Given the description of an element on the screen output the (x, y) to click on. 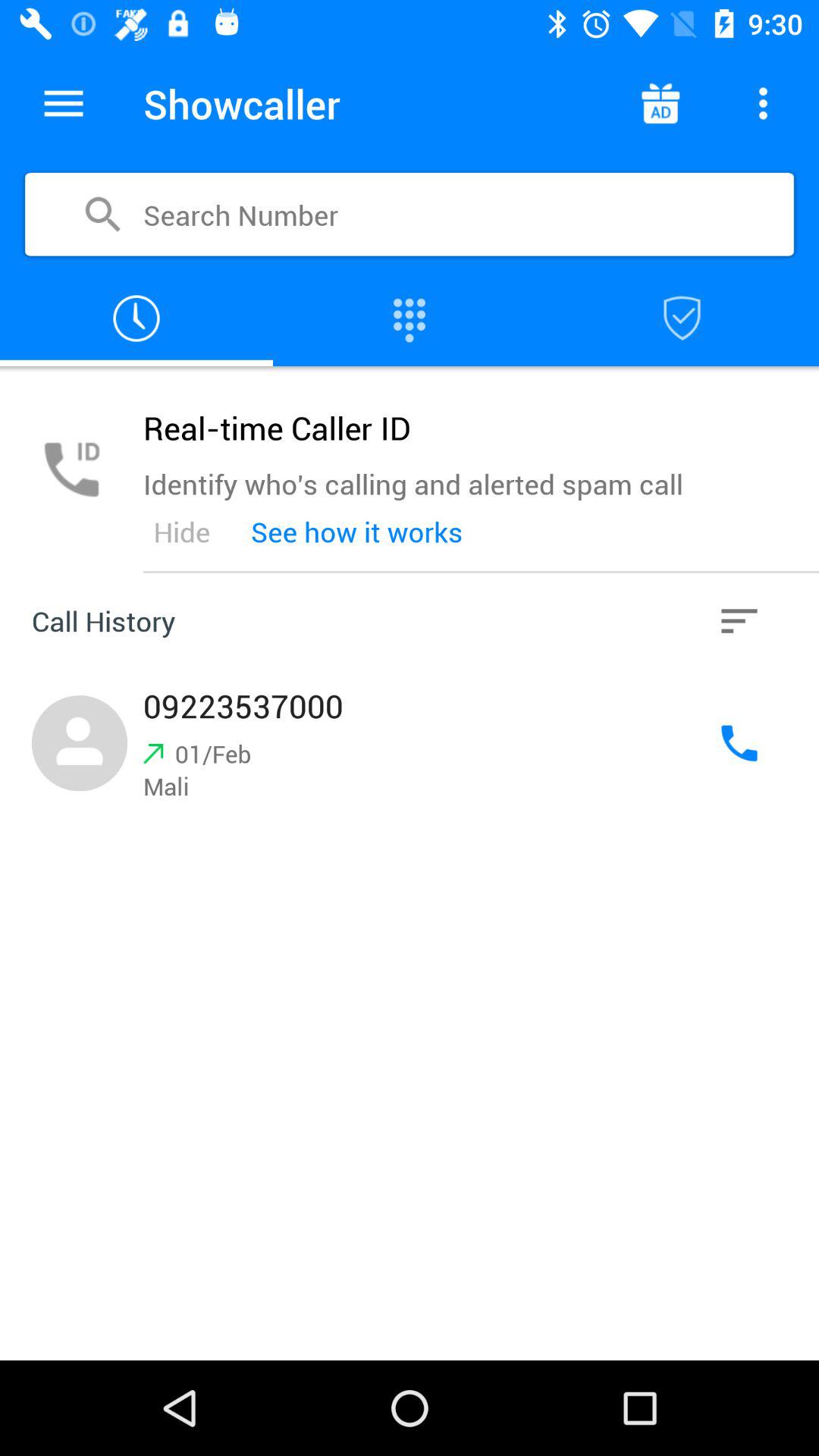
click icon to the right of the hide icon (356, 531)
